Given the description of an element on the screen output the (x, y) to click on. 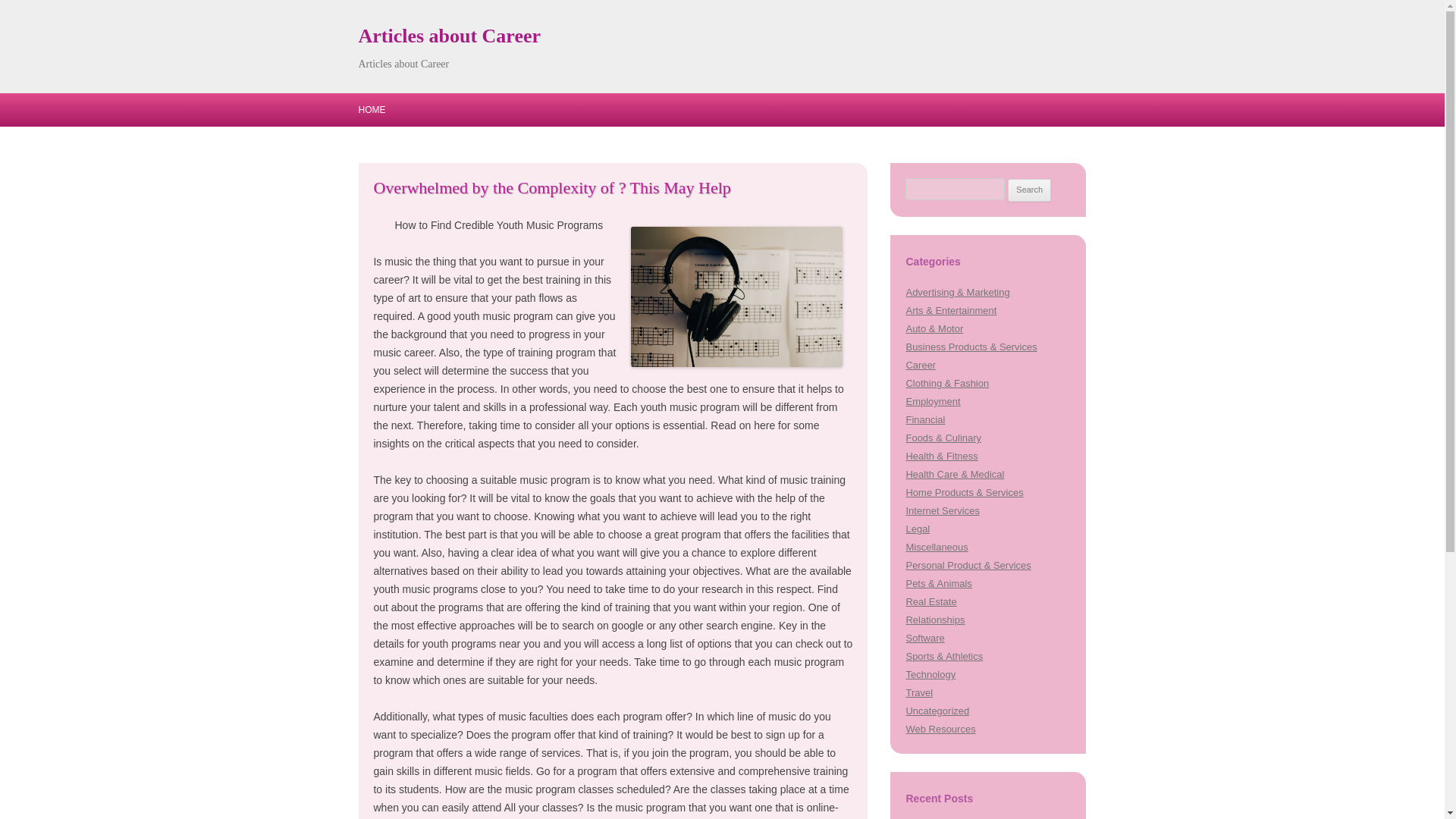
Technology (930, 674)
Software (924, 637)
Relationships (934, 619)
Search (1029, 190)
Search (1029, 190)
Real Estate (930, 601)
Articles about Career (449, 36)
Employment (932, 401)
Travel (919, 692)
